Given the description of an element on the screen output the (x, y) to click on. 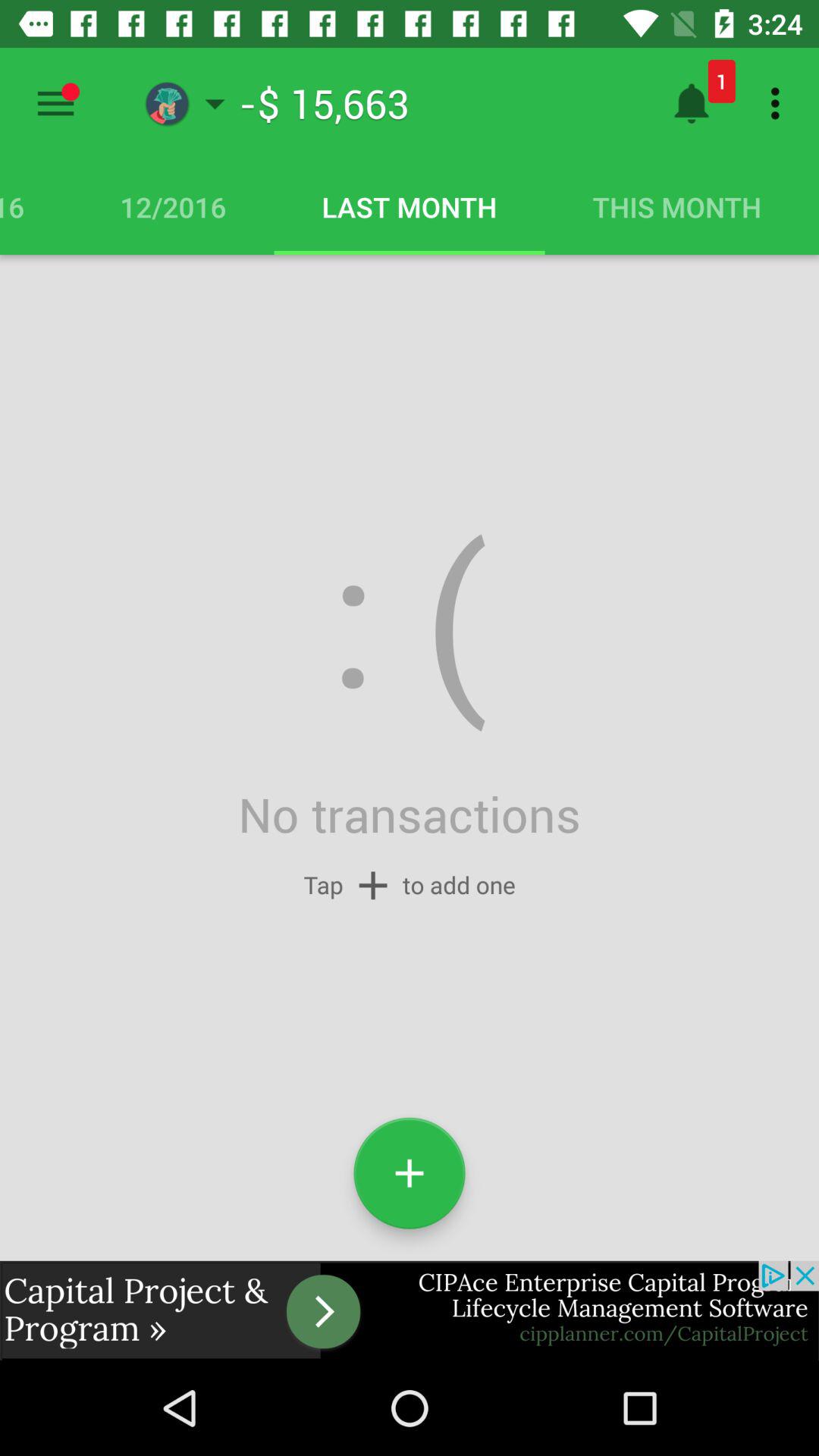
open options menu (55, 103)
